Given the description of an element on the screen output the (x, y) to click on. 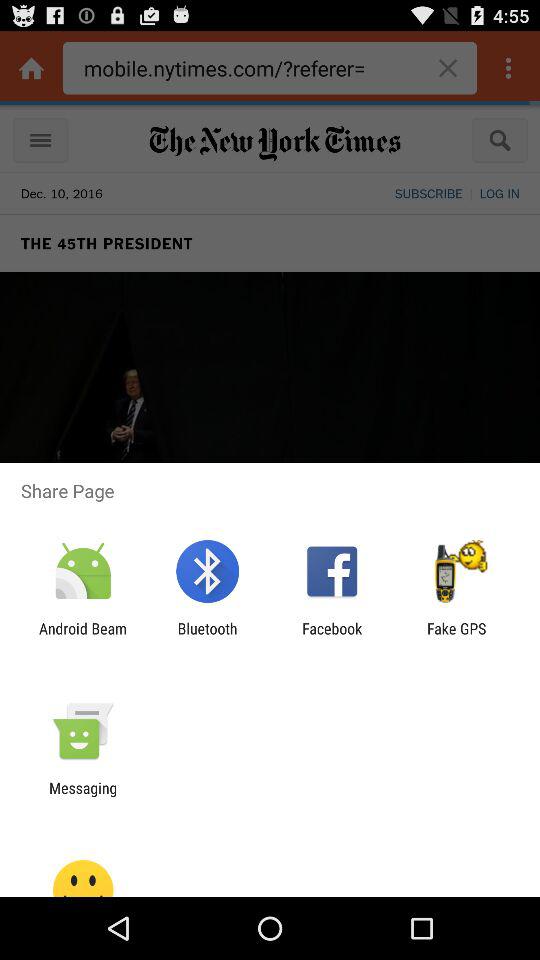
turn on the app next to the bluetooth (332, 637)
